Given the description of an element on the screen output the (x, y) to click on. 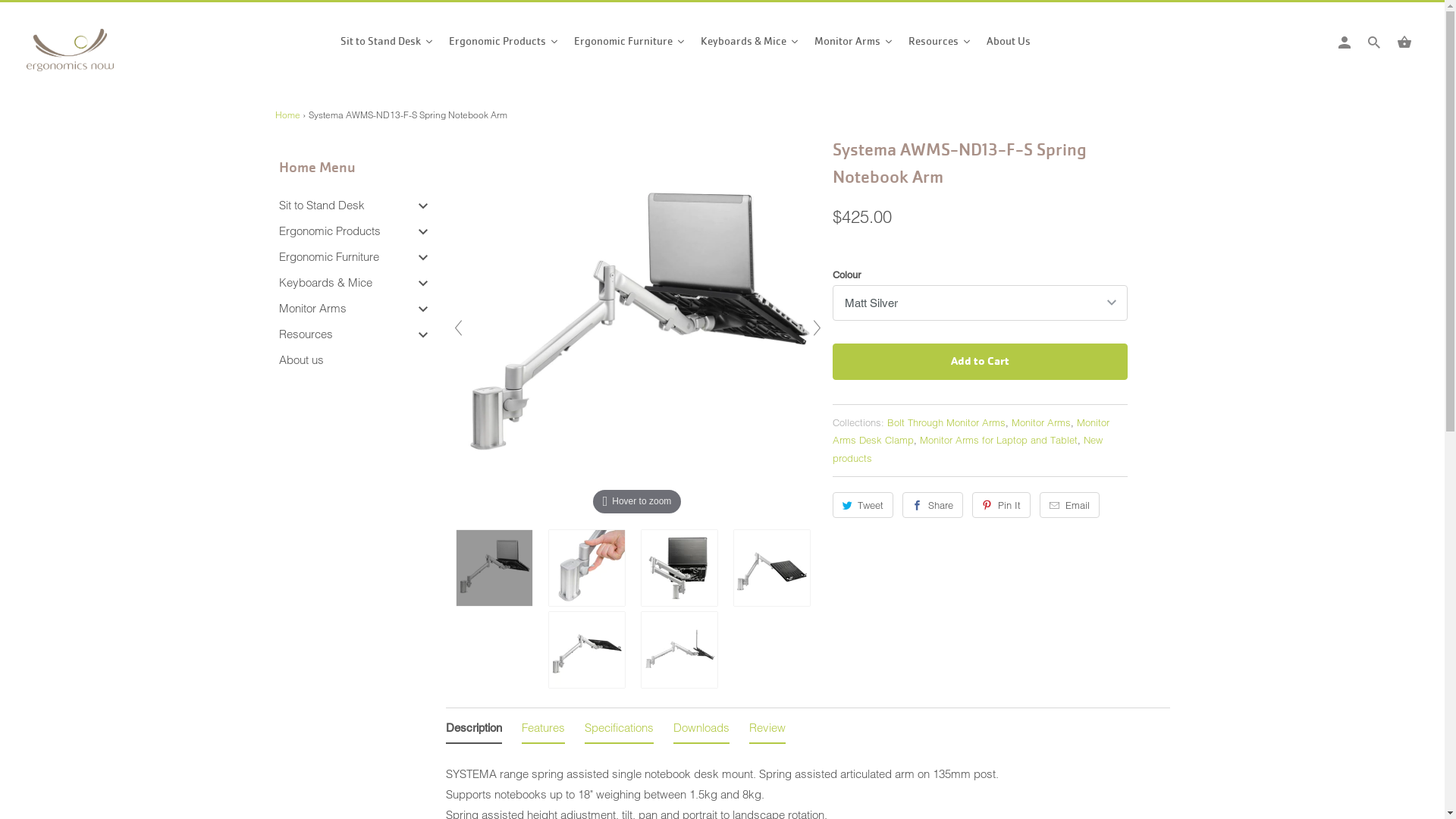
Monitor Arms Element type: text (312, 308)
Add to Cart Element type: text (979, 361)
Systema AWMS-ND13-F-S Spring Notebook Arm Element type: hover (497, 567)
New products Element type: text (967, 448)
Monitor Arms for Laptop and Tablet Element type: text (997, 439)
Resources Element type: text (939, 44)
Home Element type: text (286, 114)
Keyboards & Mice Element type: text (749, 44)
Ergonomic Products Element type: text (329, 230)
Pin It Element type: text (1001, 504)
Systema AWMS-ND13-F-S Spring Notebook Arm Element type: hover (590, 649)
Systema AWMS-ND13-F-S Spring Notebook Arm Element type: hover (682, 567)
Features Element type: text (542, 730)
Sit to Stand Desk Element type: text (321, 204)
Share Element type: text (932, 504)
Specifications Element type: text (617, 730)
Ergonomic Products Element type: text (503, 44)
Downloads Element type: text (701, 730)
Sit to Stand Desk Element type: text (386, 44)
Monitor Arms Element type: text (1040, 422)
About Us Element type: text (1004, 44)
Bolt Through Monitor Arms Element type: text (946, 422)
Resources Element type: text (305, 333)
Tweet Element type: text (863, 504)
Description Element type: text (473, 730)
Systema AWMS-ND13-F-S Spring Notebook Arm Element type: hover (590, 567)
Ergonomic Furniture Element type: text (629, 44)
Hover to zoom Element type: text (636, 327)
Monitor Arms Desk Clamp Element type: text (970, 430)
Ergonomic Furniture Element type: text (329, 256)
Monitor Arms Element type: text (853, 44)
About us Element type: text (301, 359)
Email Element type: text (1069, 504)
Systema AWMS-ND13-F-S Spring Notebook Arm Element type: hover (775, 567)
Ergonomics Now Element type: hover (94, 54)
Review Element type: text (767, 730)
Keyboards & Mice Element type: text (325, 282)
Systema AWMS-ND13-F-S Spring Notebook Arm Element type: hover (682, 649)
